Given the description of an element on the screen output the (x, y) to click on. 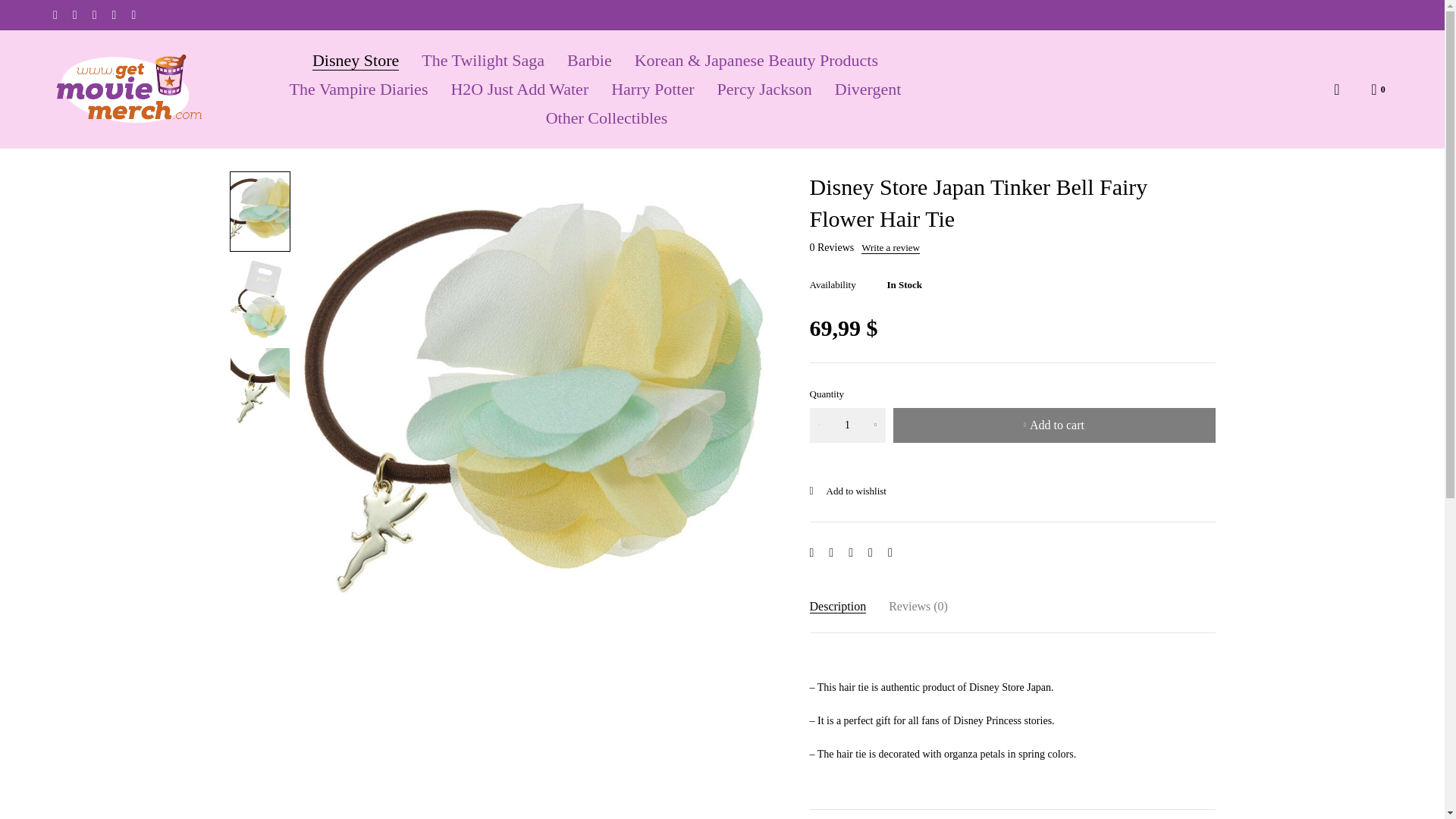
Add to cart (1054, 425)
Other Collectibles (607, 118)
0 (1378, 88)
Divergent (867, 89)
Barbie (589, 60)
Description (837, 605)
1 (847, 425)
The Twilight Saga (483, 60)
Wishlist (847, 491)
Harry Potter (652, 89)
H2O Just Add Water (518, 89)
Disney Store (355, 60)
The Vampire Diaries (358, 89)
Write a review (890, 247)
